Given the description of an element on the screen output the (x, y) to click on. 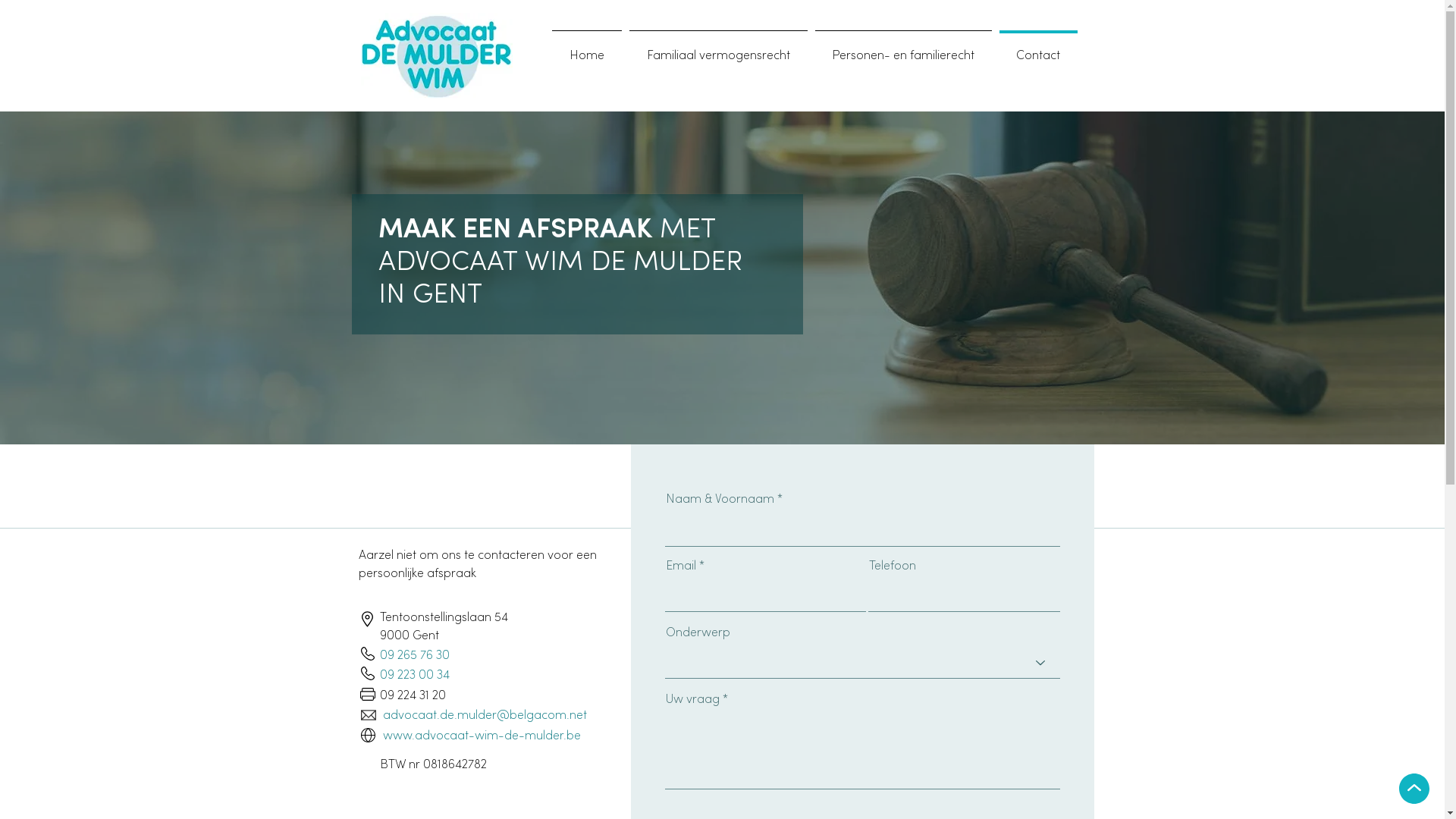
advocaat.de.mulder@belgacom.net Element type: text (484, 715)
Home Element type: text (585, 49)
Contact Element type: text (1037, 49)
Personen- en familierecht Element type: text (903, 49)
09 265 76 30 Element type: text (413, 655)
09 223 00 34 Element type: text (413, 675)
www.advocaat-wim-de-mulder.be Element type: text (481, 736)
Familiaal vermogensrecht Element type: text (717, 49)
